Given the description of an element on the screen output the (x, y) to click on. 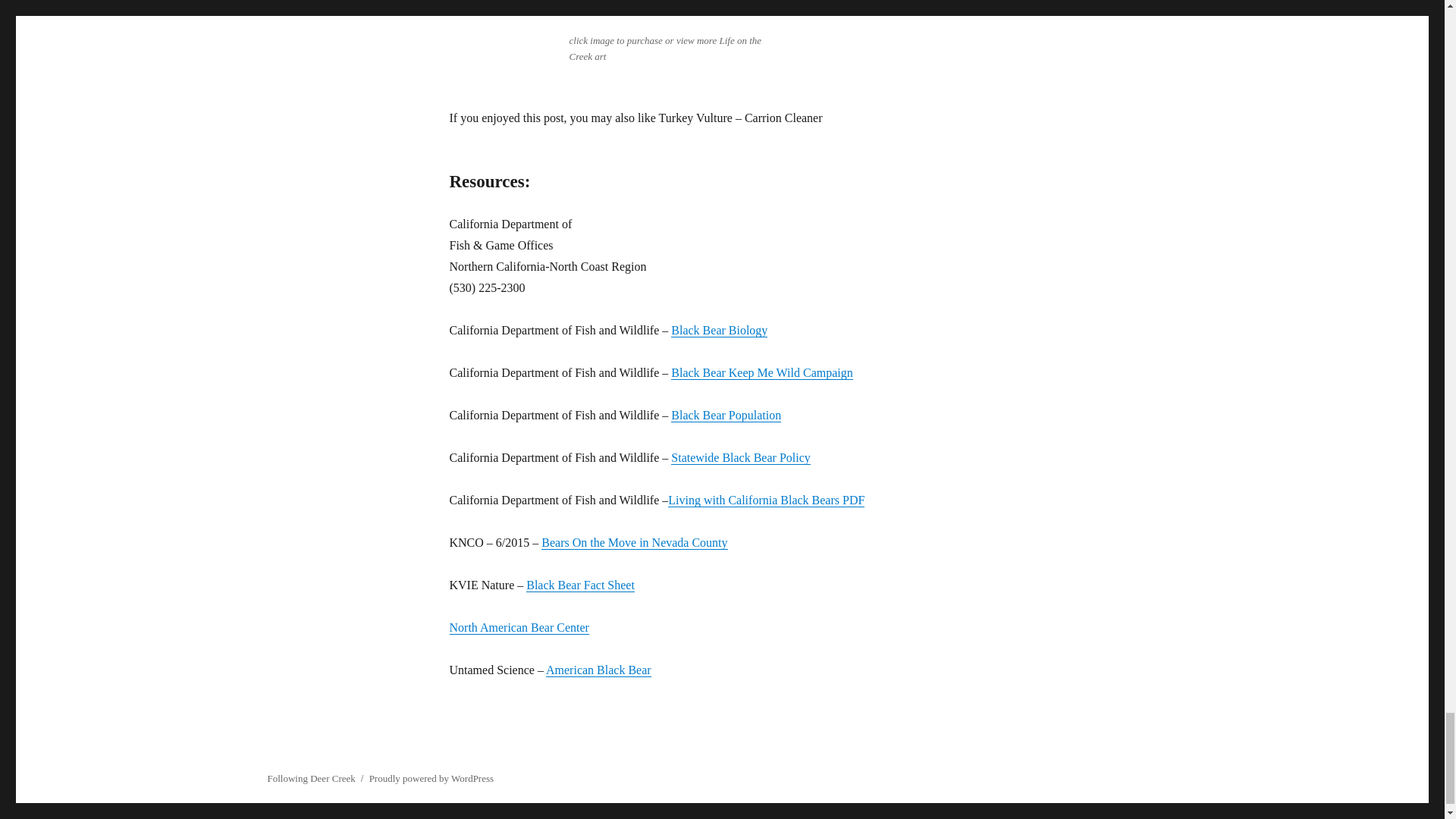
Statewide Black Bear Policy (740, 457)
Bears On the Move in Nevada County (633, 542)
American Black Bear (598, 669)
Living with California Black Bears PDF (766, 499)
North American Bear Center (518, 626)
Black Bear Keep Me Wild Campaign (761, 372)
Black Bear Biology (719, 329)
Black Bear Population (725, 414)
Black Bear Fact Sheet (579, 584)
